Given the description of an element on the screen output the (x, y) to click on. 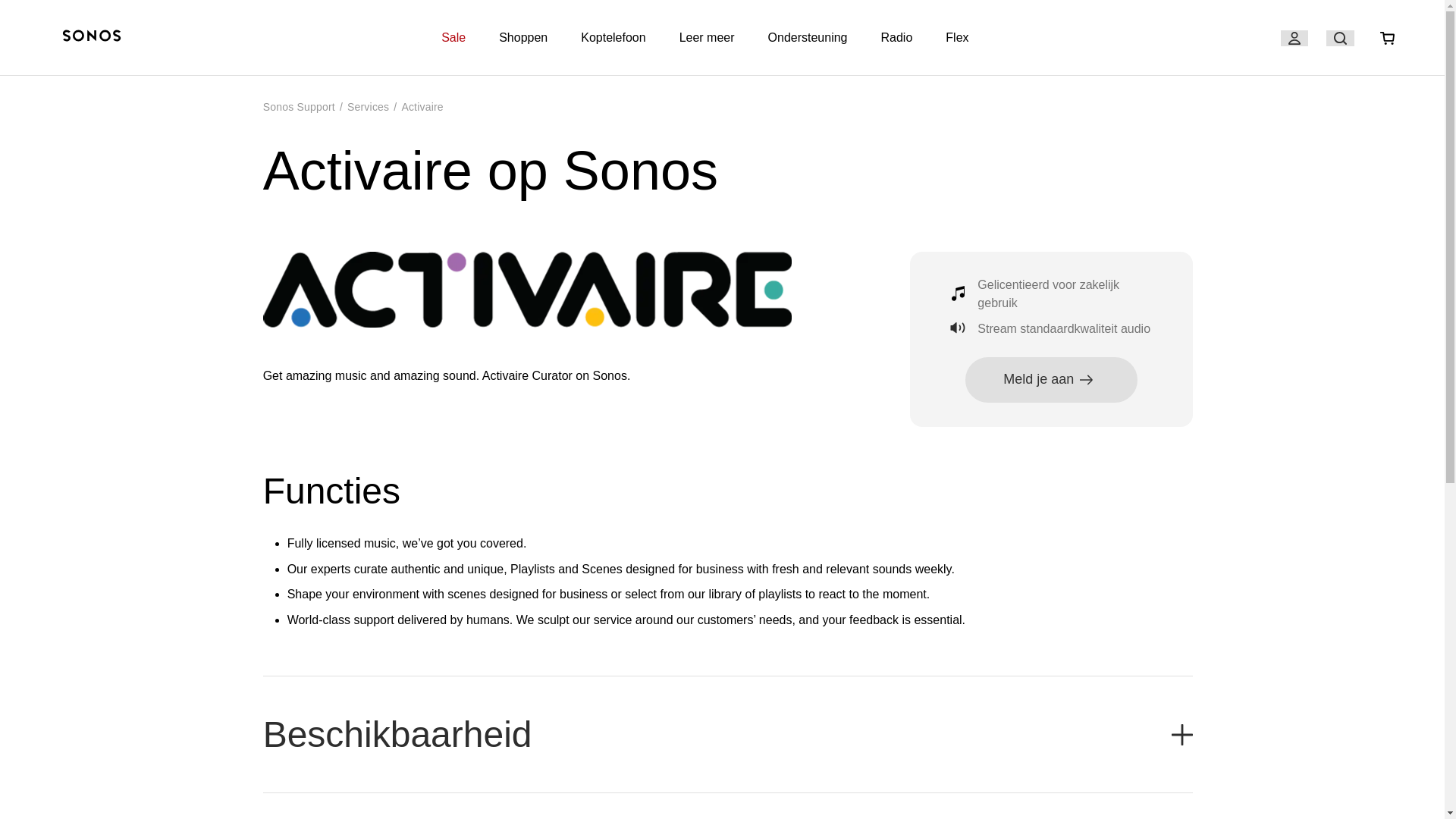
Activaire (421, 106)
Mijn account (1294, 38)
Zoeken (1340, 37)
Radio (896, 37)
Winkelwagen (1387, 38)
Leer meer (707, 37)
Services (367, 106)
Zoeken (1339, 38)
Flex (956, 37)
Shoppen (522, 37)
Sale (453, 37)
Winkelwagen (1387, 37)
Mijn account (1294, 37)
Koptelefoon (612, 37)
Sonos Support (298, 106)
